Given the description of an element on the screen output the (x, y) to click on. 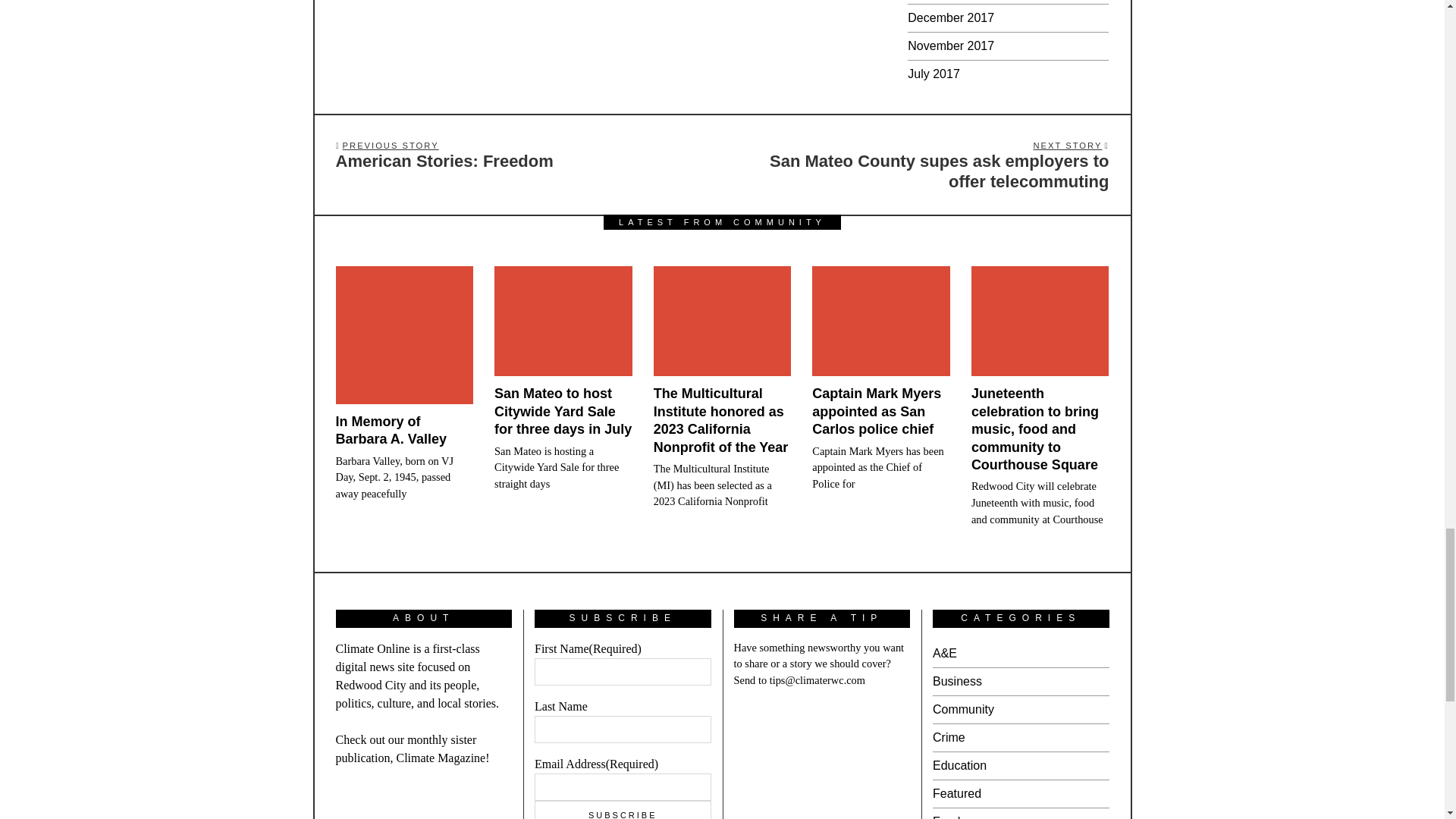
Subscribe (622, 809)
